Given the description of an element on the screen output the (x, y) to click on. 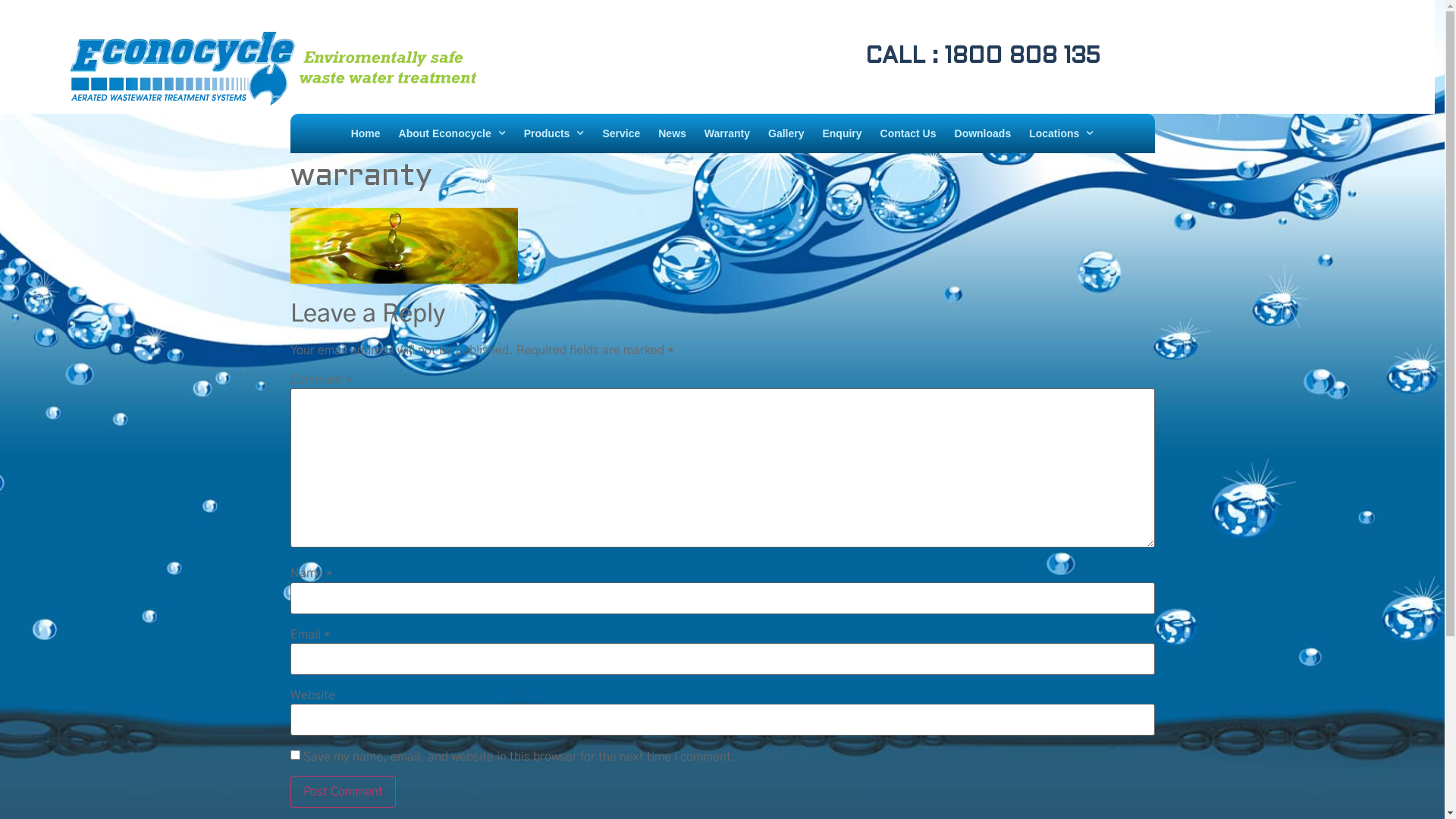
Post Comment Element type: text (342, 791)
CALL : 1800 808 135 Element type: text (828, 56)
Downloads Element type: text (982, 133)
About Econocycle Element type: text (451, 133)
Gallery Element type: text (785, 133)
Products Element type: text (553, 133)
Warranty Element type: text (727, 133)
Locations Element type: text (1060, 133)
Enquiry Element type: text (841, 133)
News Element type: text (672, 133)
Contact Us Element type: text (908, 133)
Home Element type: text (365, 133)
Service Element type: text (621, 133)
